Given the description of an element on the screen output the (x, y) to click on. 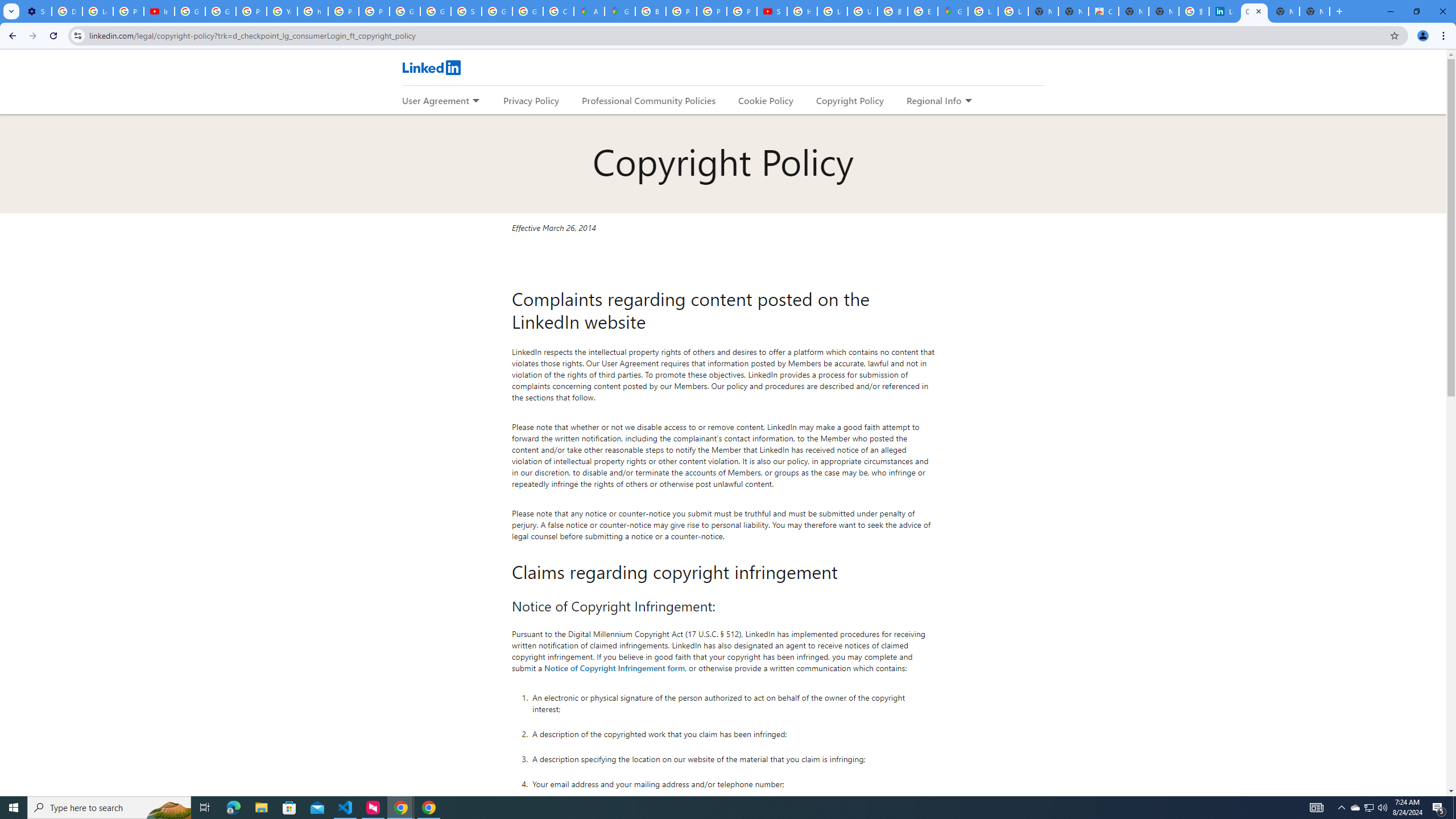
How Chrome protects your passwords - Google Chrome Help (801, 11)
Expand to show more links for User Agreement (475, 101)
Cookie Policy (765, 100)
New Tab (1314, 11)
Subscriptions - YouTube (771, 11)
